Given the description of an element on the screen output the (x, y) to click on. 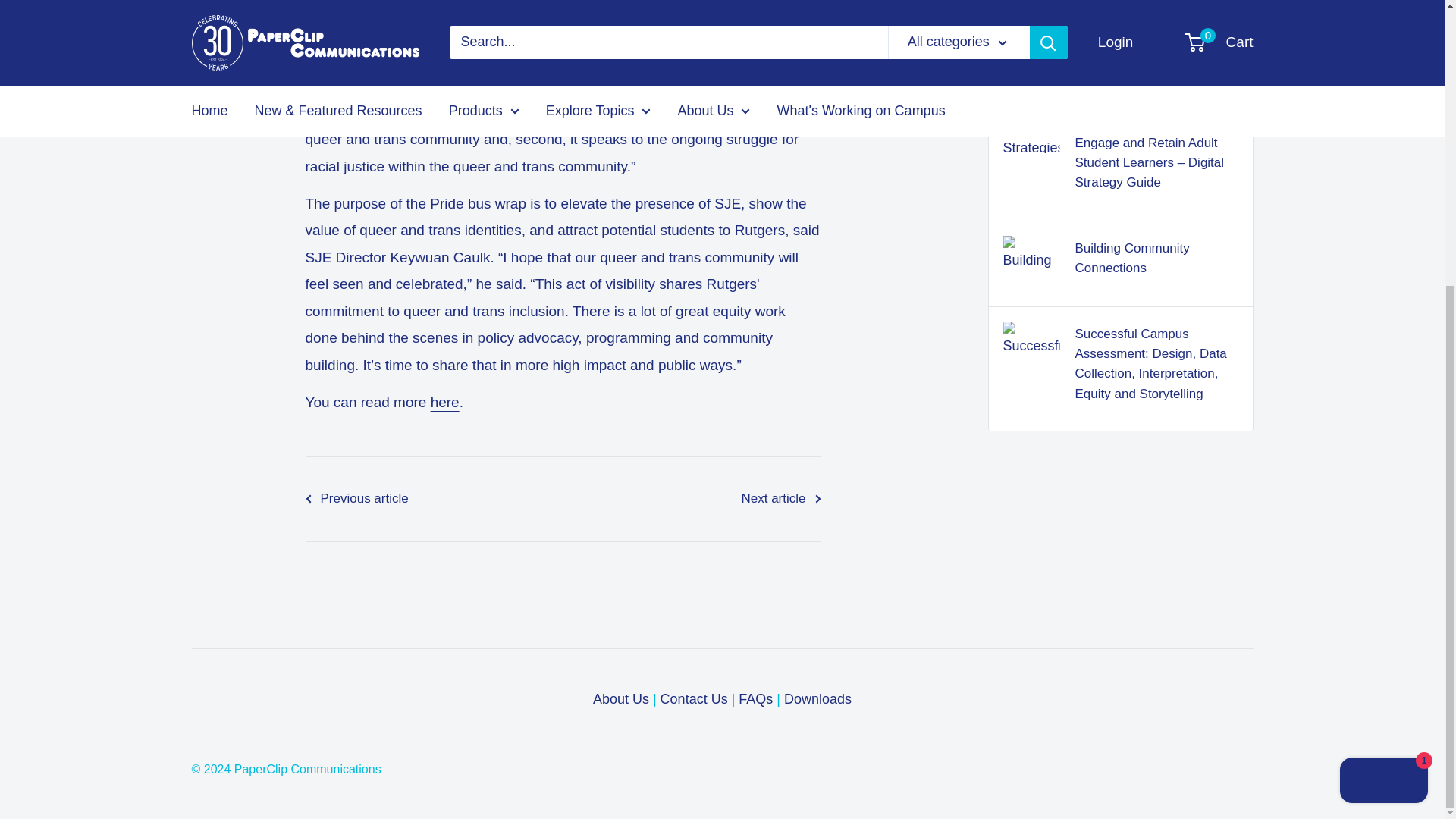
Handouts (817, 698)
Frequently Asked Questions (755, 698)
About Us (620, 698)
Shopify online store chat (1383, 350)
Contact Us (694, 698)
